Given the description of an element on the screen output the (x, y) to click on. 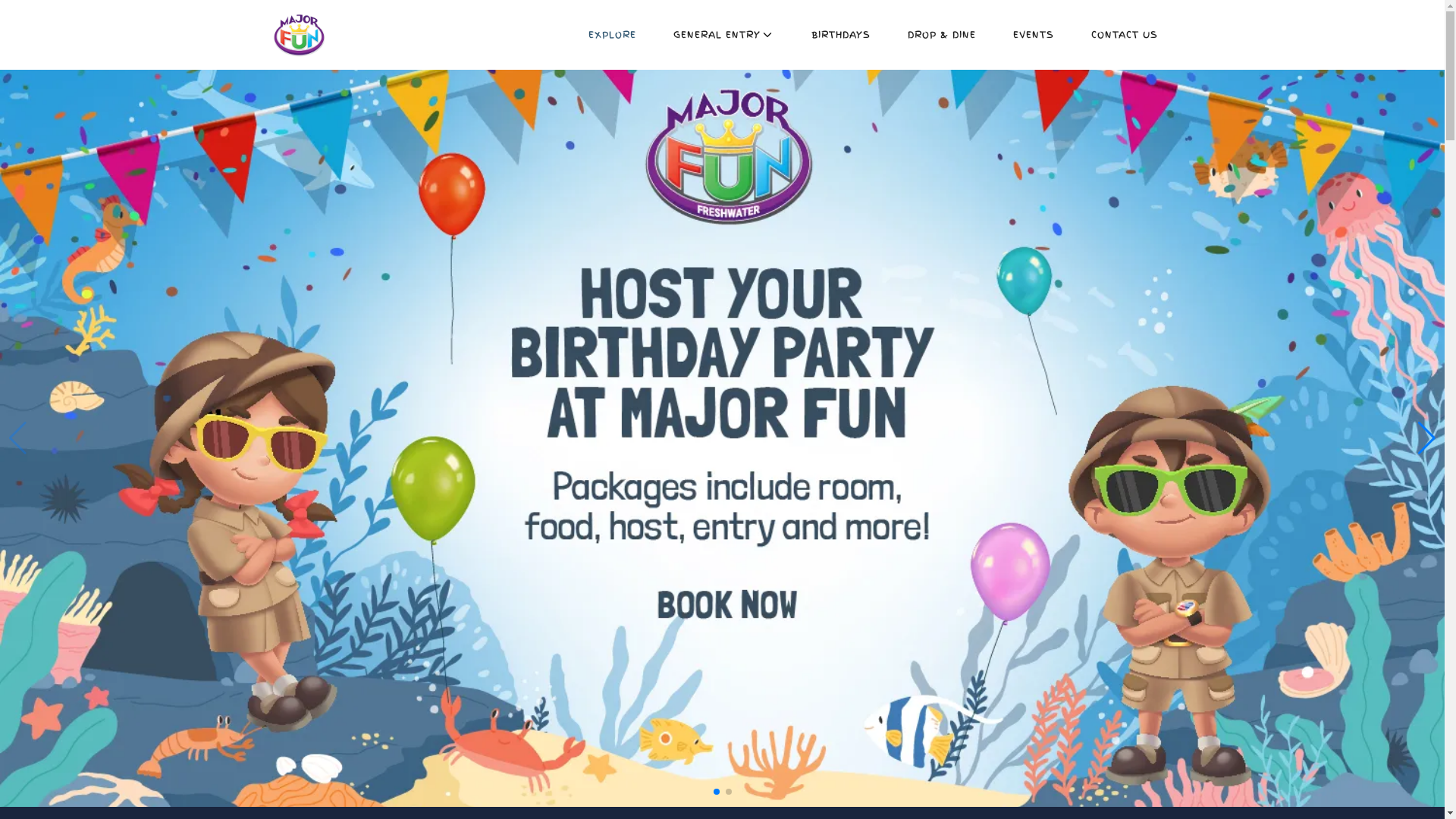
DROP & DINE Element type: text (940, 34)
CONTACT US Element type: text (1123, 34)
BIRTHDAYS Element type: text (840, 34)
EVENTS Element type: text (1033, 34)
EXPLORE Element type: text (612, 34)
GENERAL ENTRY Element type: text (723, 34)
